Given the description of an element on the screen output the (x, y) to click on. 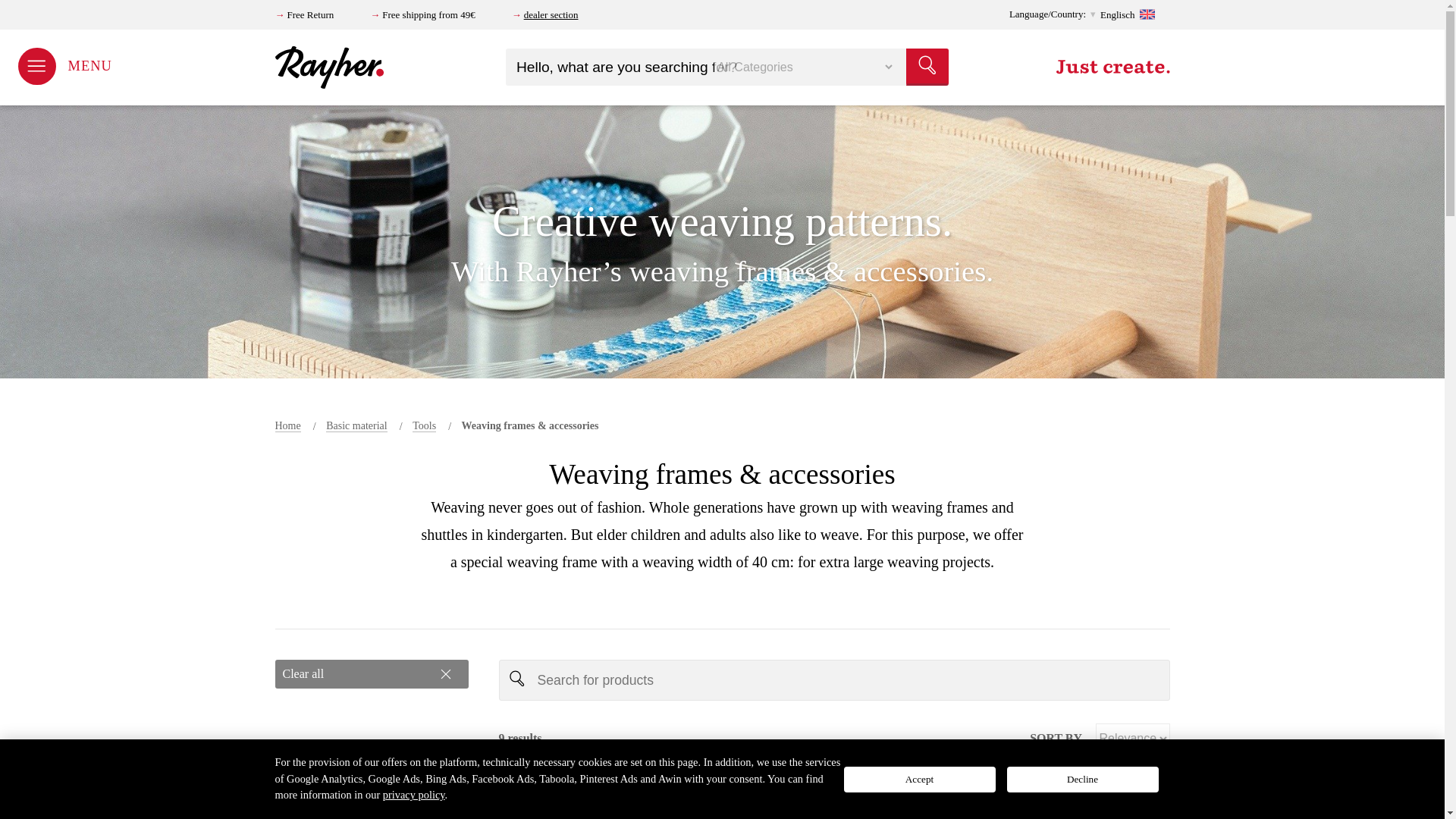
dealer section (551, 14)
Rayher Hobby GmbH (330, 66)
Go to Home Page (287, 426)
